Given the description of an element on the screen output the (x, y) to click on. 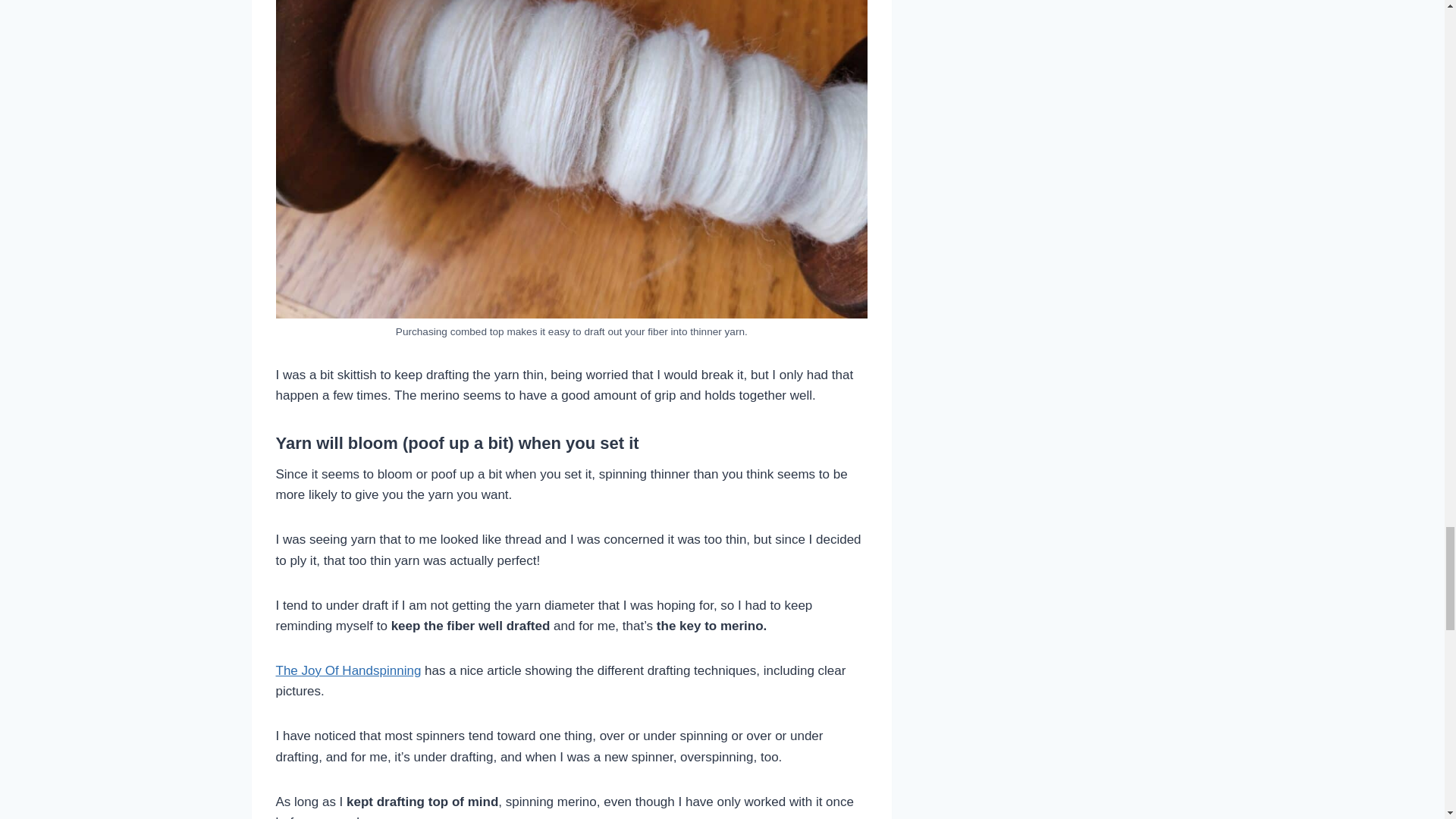
The Joy Of Handspinning (349, 670)
